Given the description of an element on the screen output the (x, y) to click on. 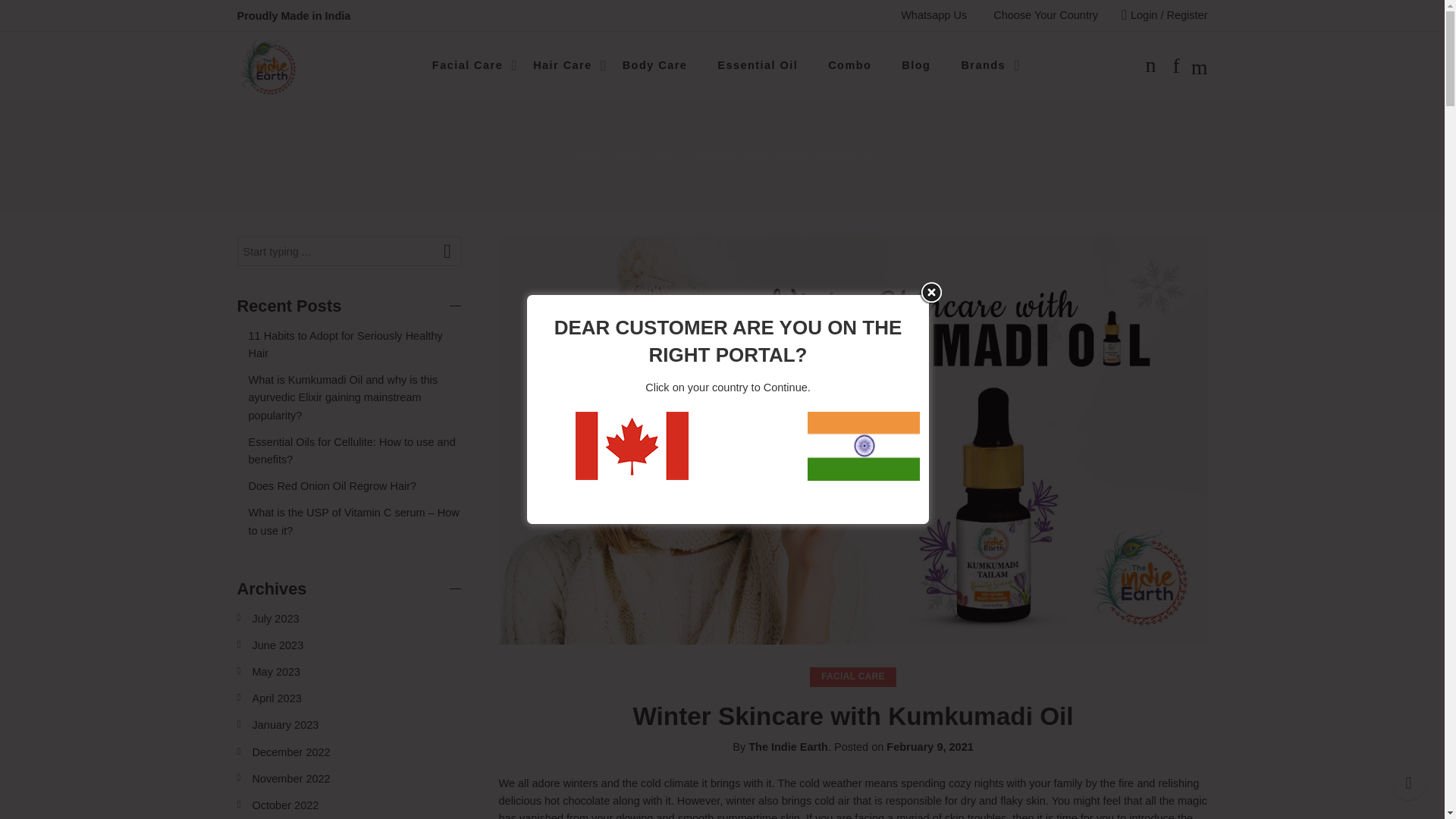
Whatsapp Us (933, 15)
Facial Care (467, 65)
Facial Care (467, 65)
Choose Your Country (1044, 15)
Choose Your Country (1044, 15)
Hair Care (562, 65)
The Indie Earth (788, 746)
Brands (983, 65)
glowing (633, 815)
Combo (849, 65)
